Given the description of an element on the screen output the (x, y) to click on. 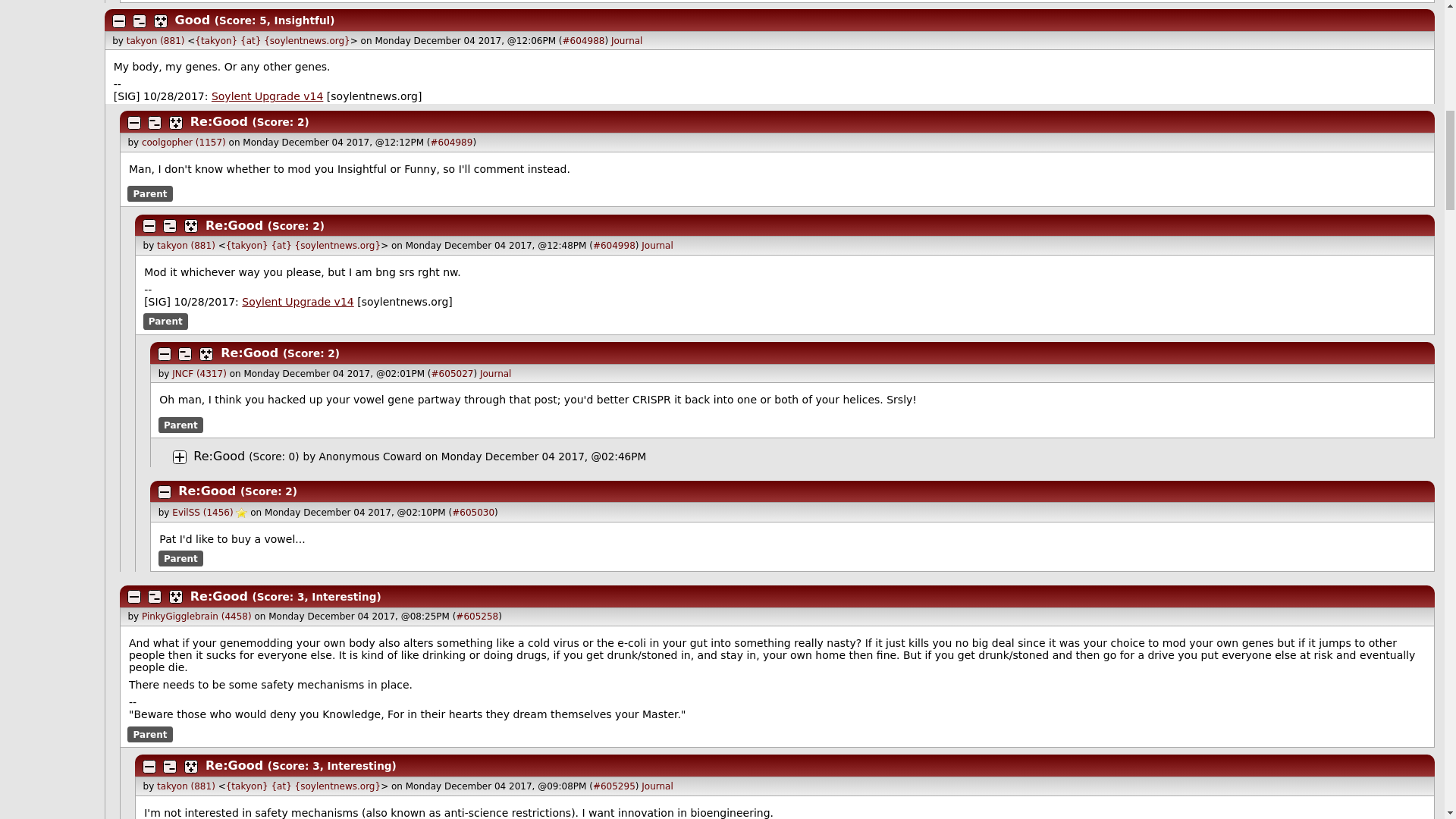
Show all comments in tree (160, 20)
